Given the description of an element on the screen output the (x, y) to click on. 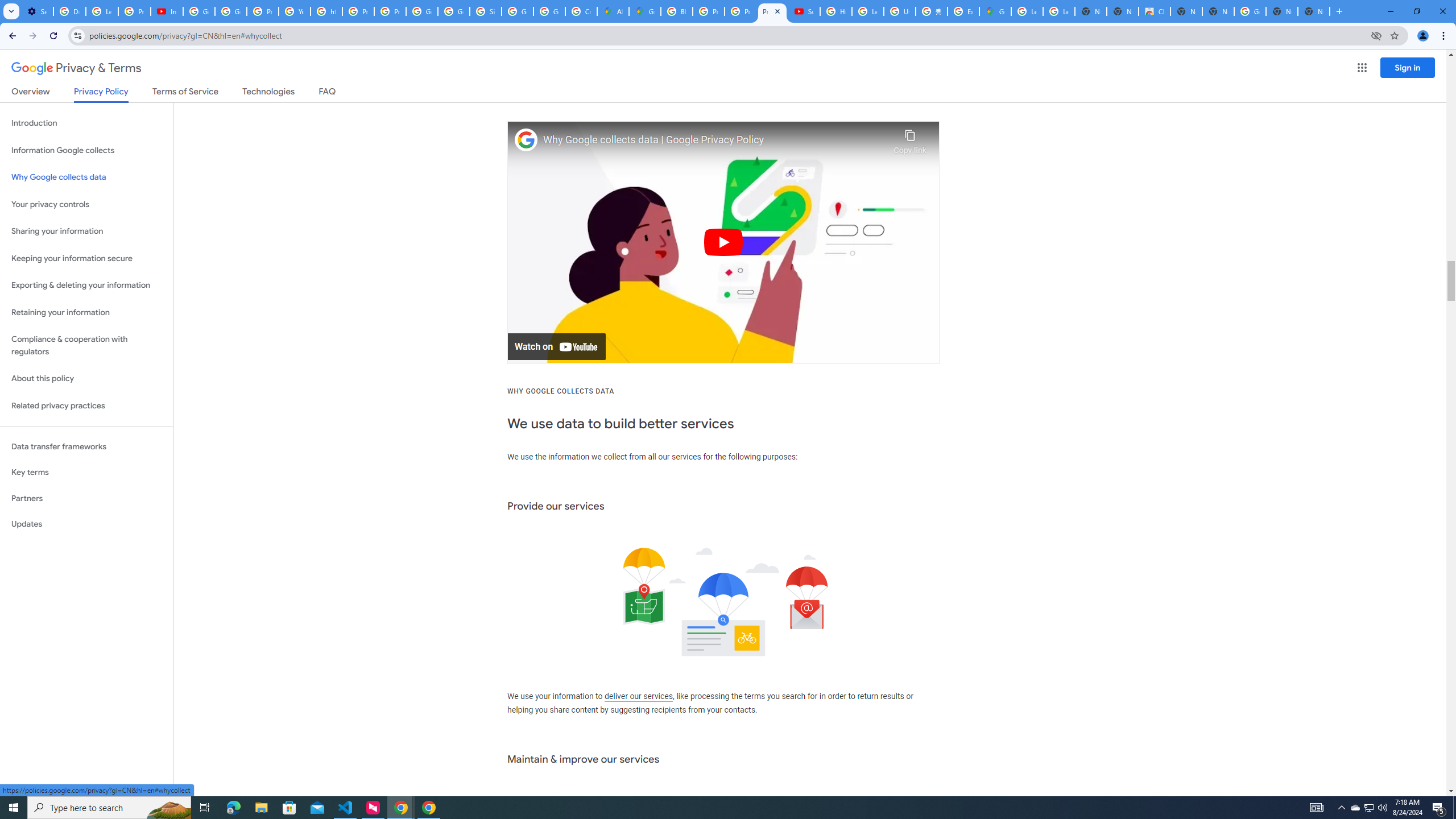
Create your Google Account (581, 11)
Sharing your information (86, 230)
About this policy (86, 379)
Delete photos & videos - Computer - Google Photos Help (69, 11)
Photo image of Google (526, 139)
Google Account Help (198, 11)
Privacy Help Center - Policies Help (358, 11)
